Given the description of an element on the screen output the (x, y) to click on. 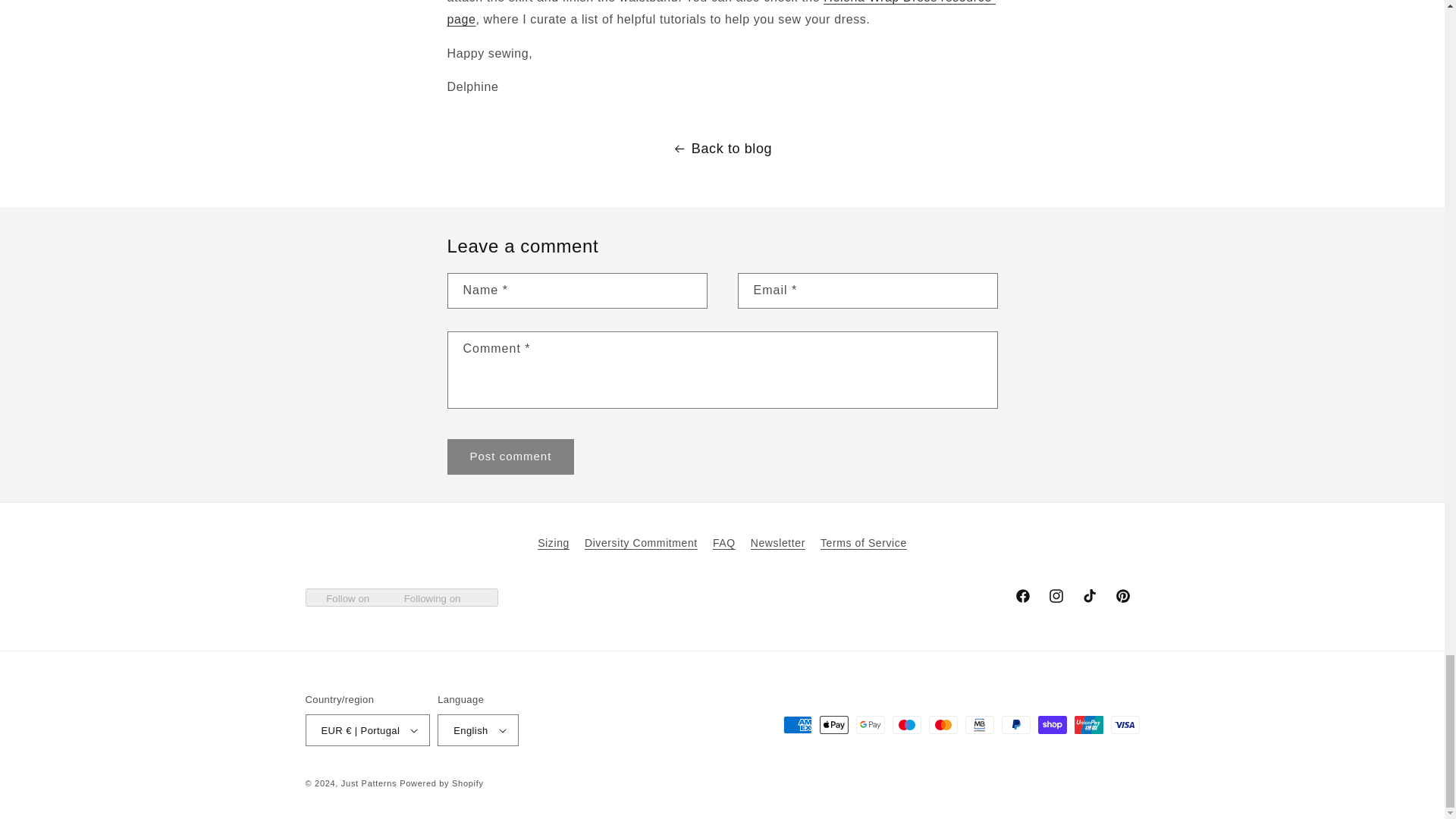
Sizing (553, 544)
Post comment (510, 456)
Post comment (510, 456)
Helena Wrap Dress resource page (720, 12)
